Given the description of an element on the screen output the (x, y) to click on. 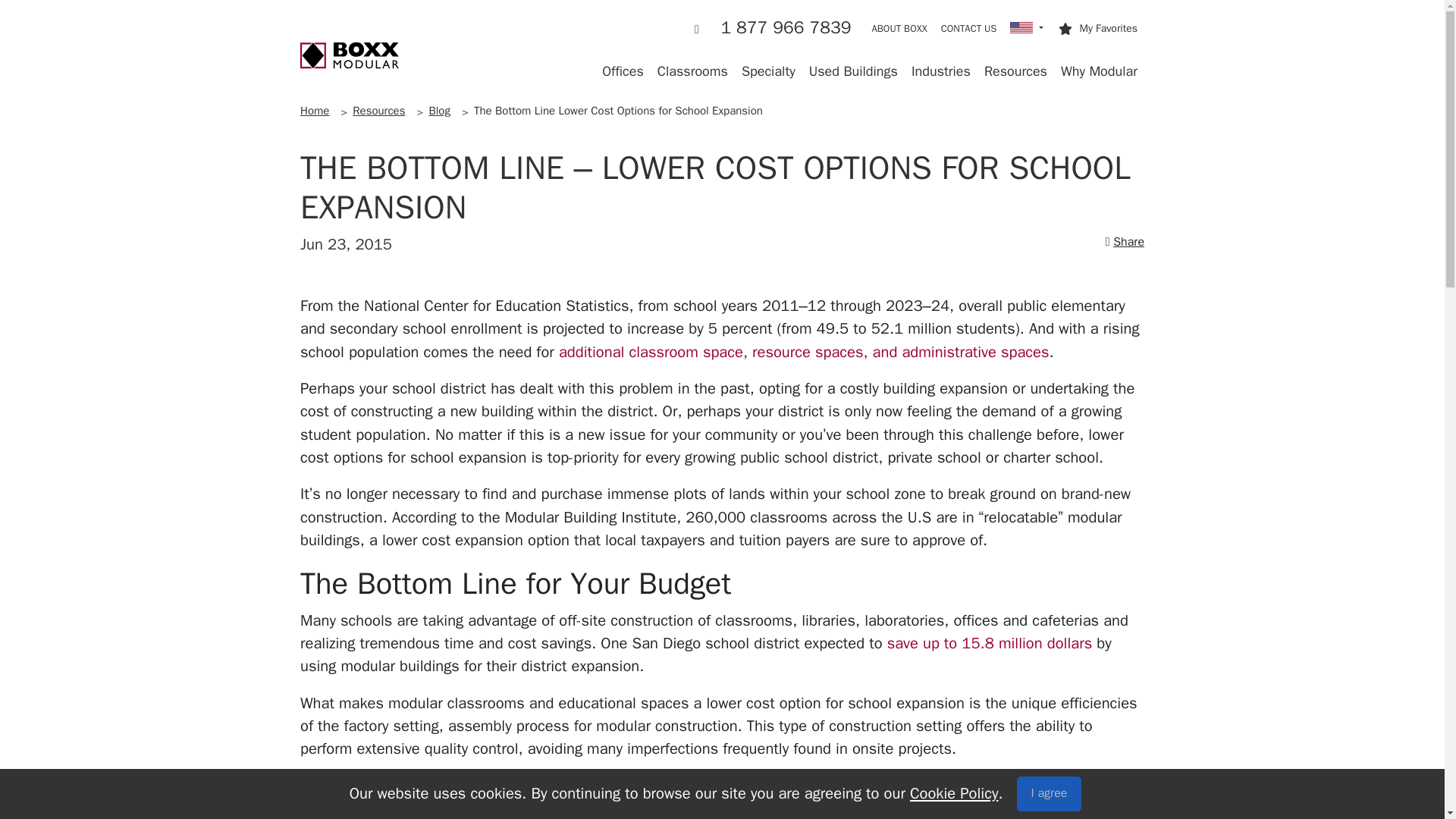
Offices (622, 71)
About BOXX (899, 28)
CONTACT US (969, 28)
Industries (940, 71)
Used Buildings (853, 71)
1 877 966 7839 (772, 27)
My Favorites (1099, 28)
1 877 966 7839 (772, 27)
Country Dropdown (1026, 28)
I agree (1048, 793)
Boxx Modular (348, 55)
Home (348, 54)
Classrooms (692, 71)
Offices (622, 71)
Contact US (969, 28)
